Given the description of an element on the screen output the (x, y) to click on. 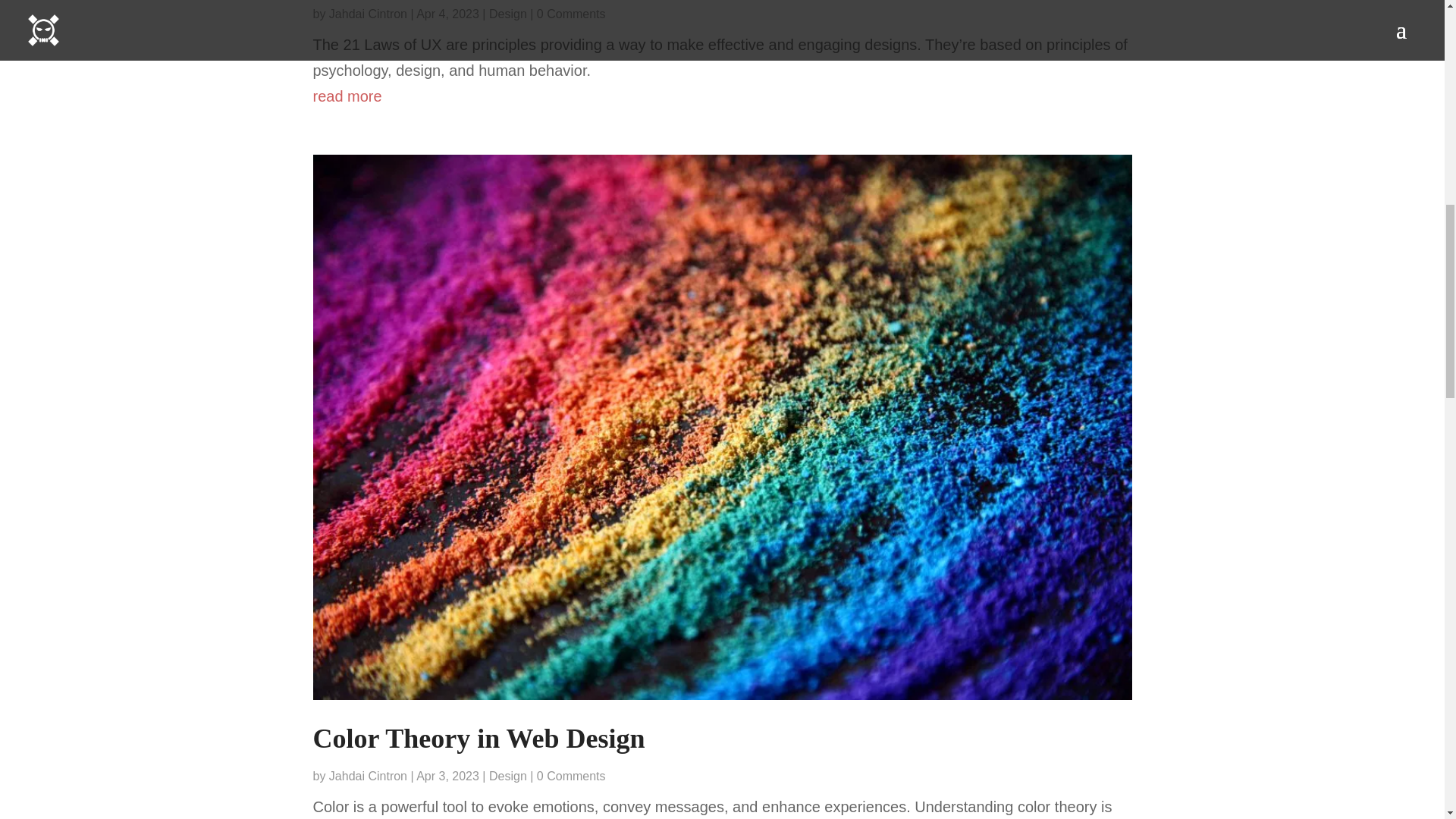
Design (508, 13)
Jahdai Cintron (368, 775)
Jahdai Cintron (368, 13)
Color Theory in Web Design (479, 738)
Posts by Jahdai Cintron (368, 775)
Posts by Jahdai Cintron (368, 13)
Design (508, 775)
read more (722, 95)
